Given the description of an element on the screen output the (x, y) to click on. 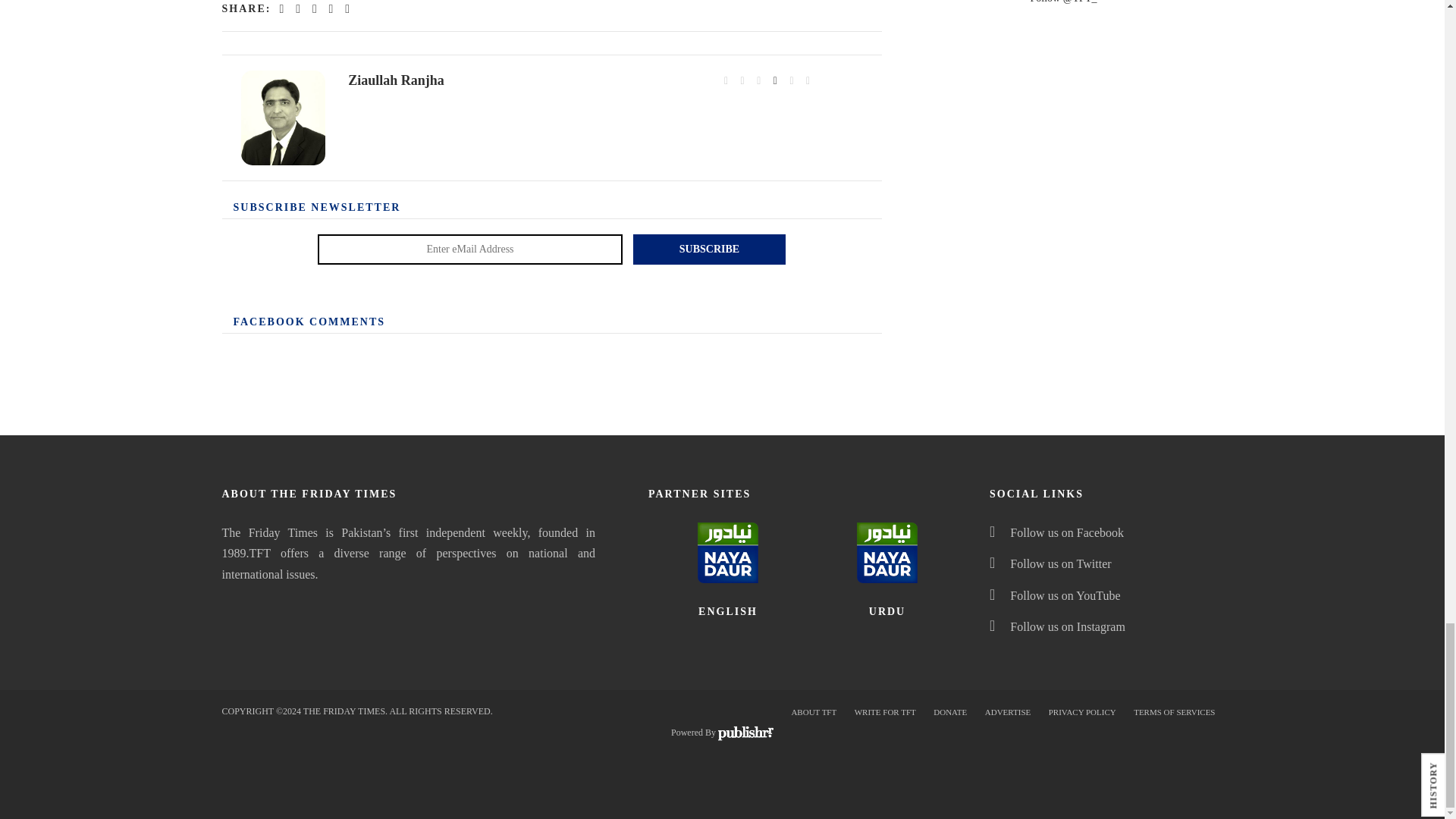
Ziaullah Ranjha (283, 117)
Subscribe (709, 249)
